Given the description of an element on the screen output the (x, y) to click on. 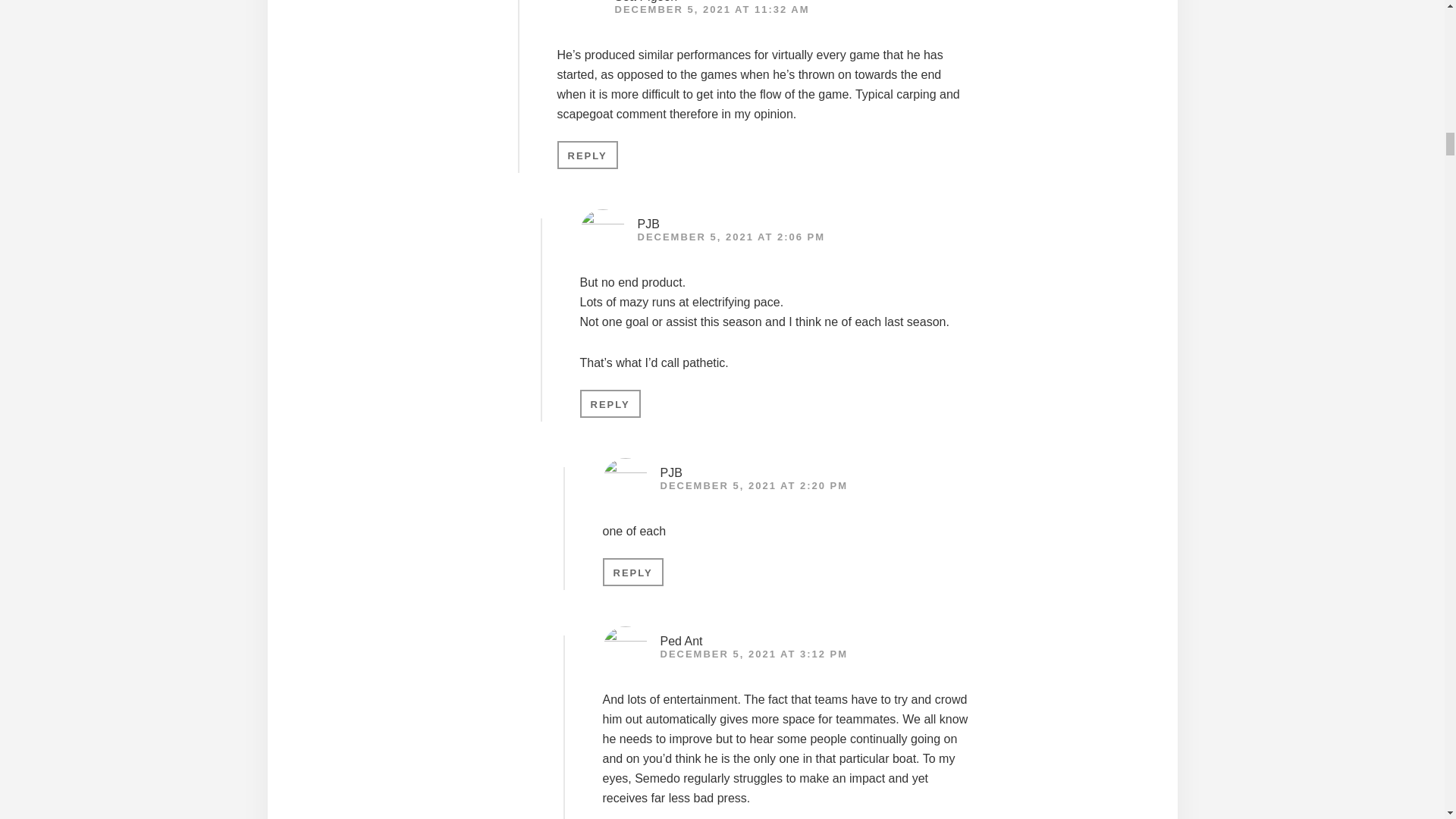
DECEMBER 5, 2021 AT 3:12 PM (753, 654)
DECEMBER 5, 2021 AT 2:20 PM (753, 485)
DECEMBER 5, 2021 AT 2:06 PM (731, 236)
REPLY (632, 571)
DECEMBER 5, 2021 AT 11:32 AM (711, 9)
REPLY (586, 154)
REPLY (609, 403)
